Given the description of an element on the screen output the (x, y) to click on. 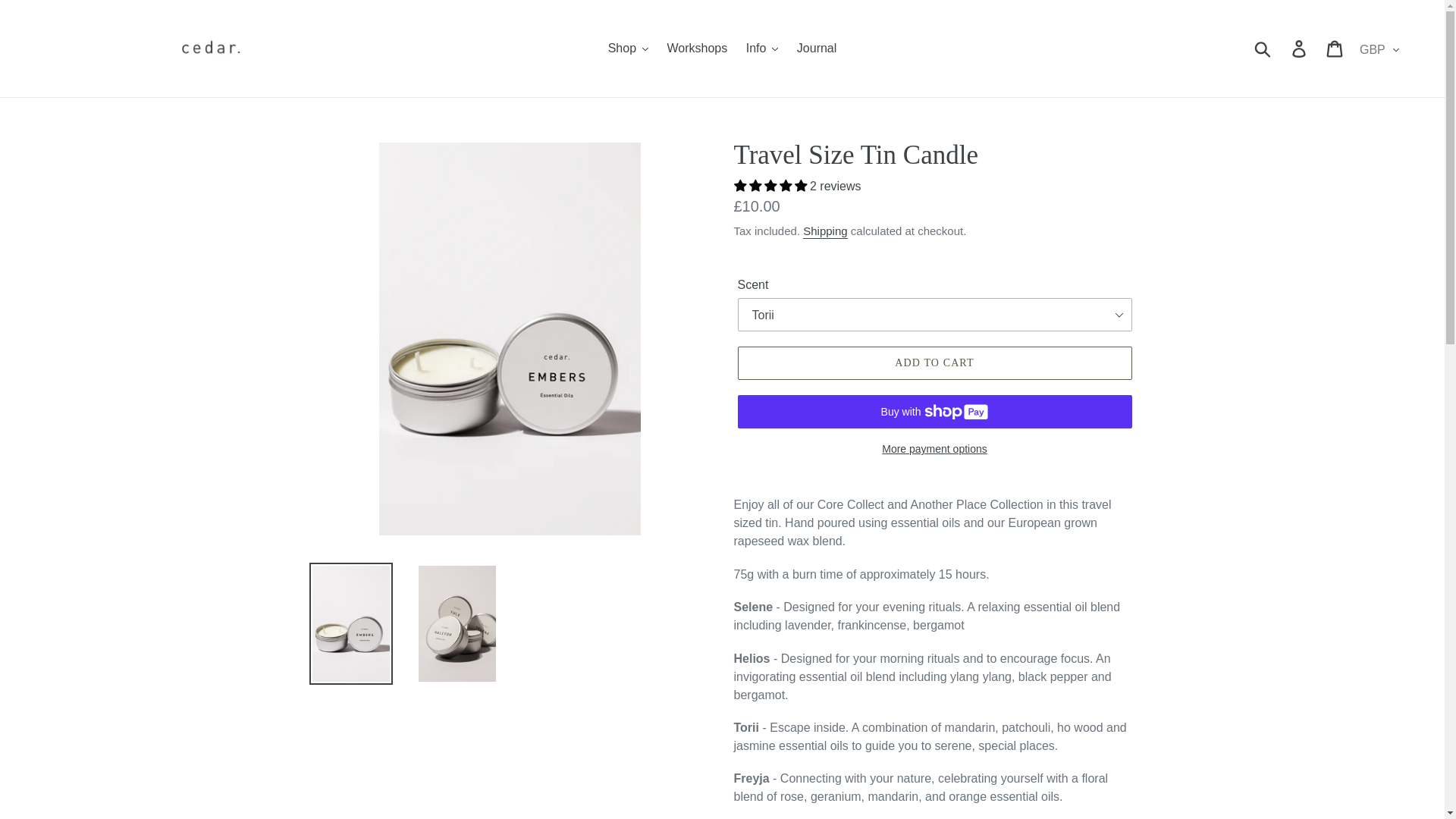
Submit (1263, 48)
Cart (1335, 48)
Log in (1299, 48)
Journal (816, 47)
Workshops (697, 47)
